Given the description of an element on the screen output the (x, y) to click on. 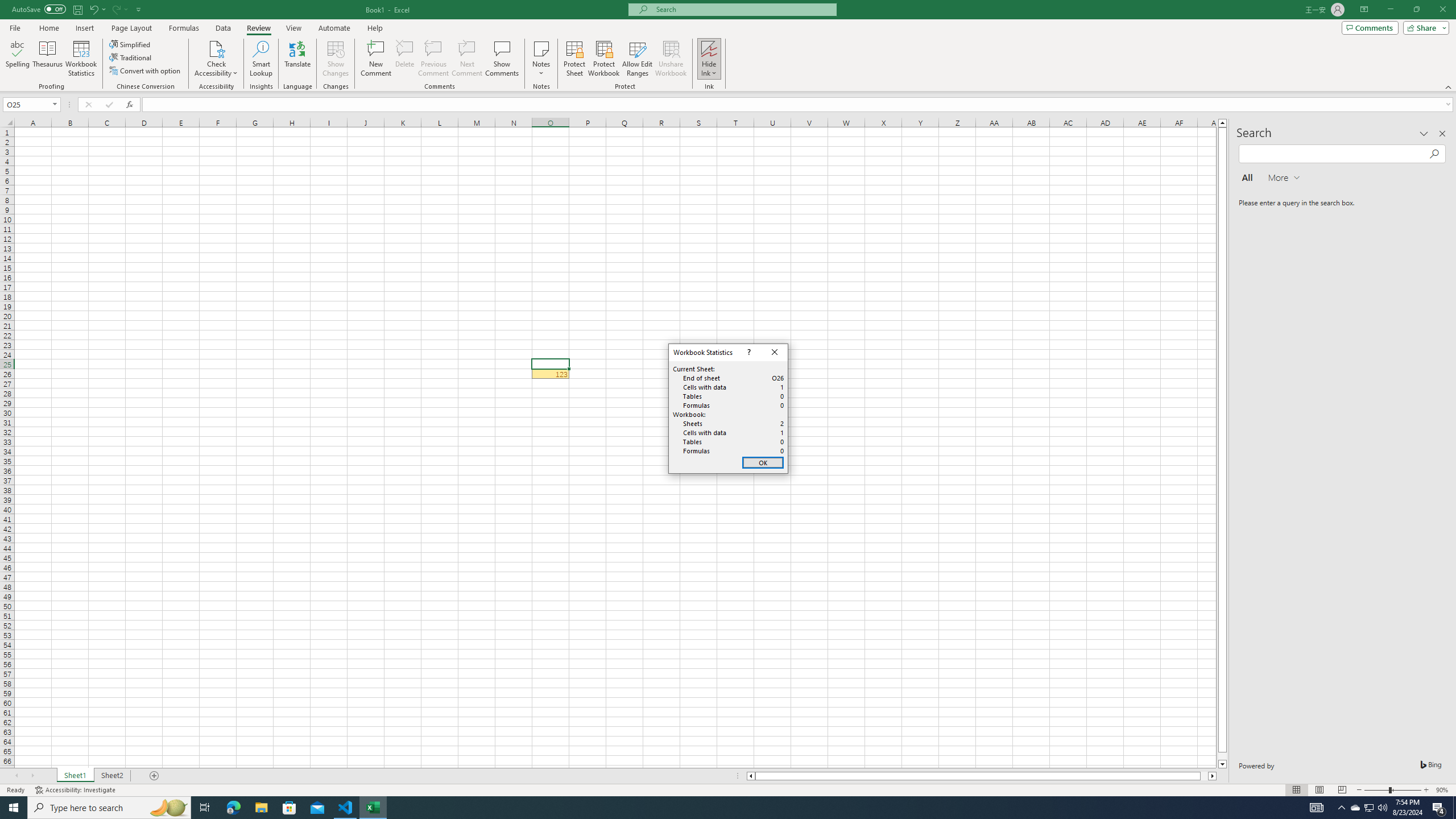
Help (374, 28)
Task Pane Options (1423, 133)
Microsoft Edge (233, 807)
Line up (1222, 122)
Simplified (130, 44)
Quick Access Toolbar (77, 9)
New Comment (376, 58)
Undo (96, 9)
Redo (119, 9)
File Tab (15, 27)
Workbook Statistics (81, 58)
Column right (1212, 775)
Delete (404, 58)
Search highlights icon opens search home window (167, 807)
Zoom (1392, 790)
